Given the description of an element on the screen output the (x, y) to click on. 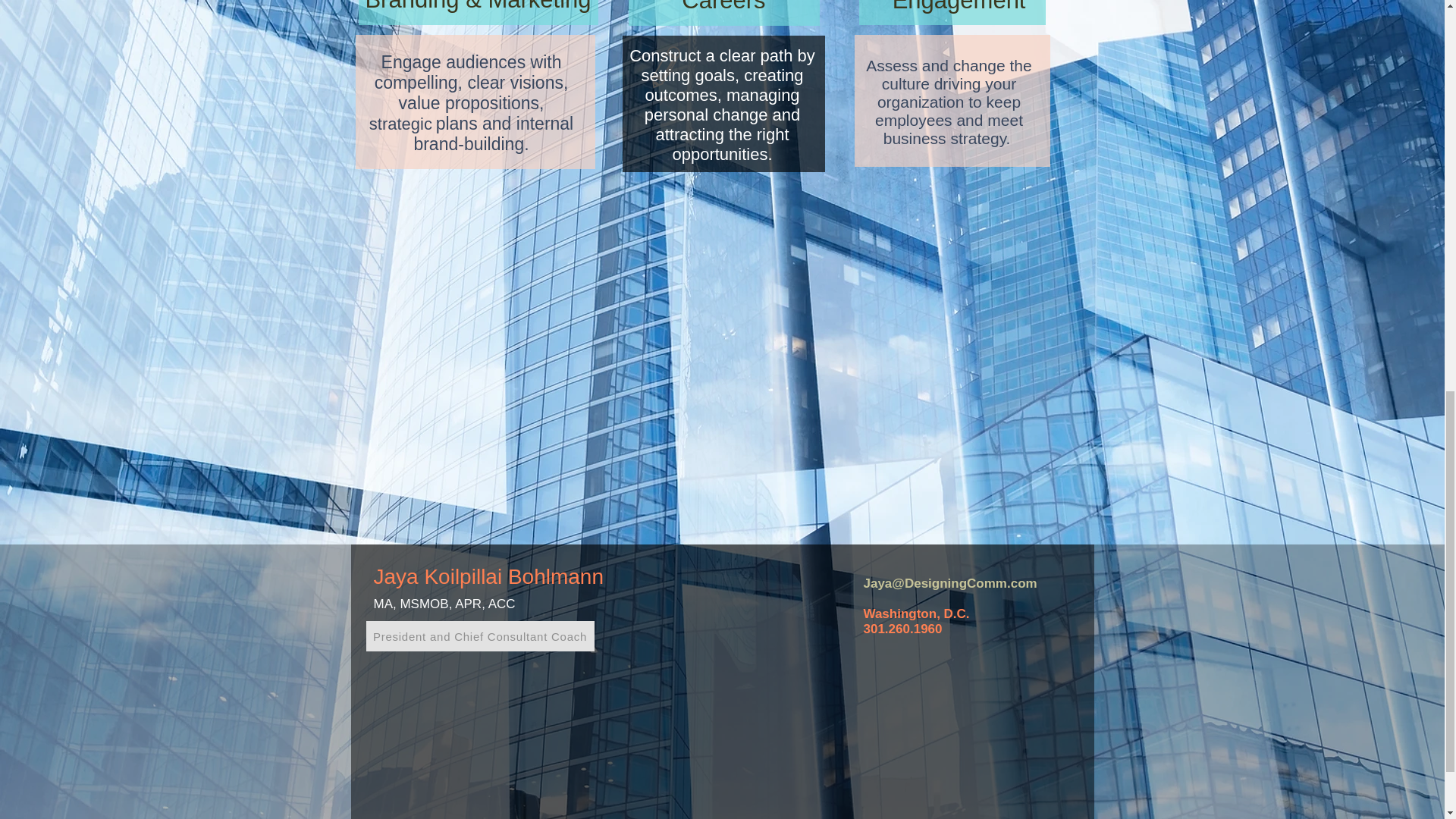
Engagement (952, 12)
Twitter Follow (891, 663)
Careers (722, 12)
President and Chief Consultant Coach (479, 635)
Jaya Koilpillai Bohlmann (488, 576)
